Given the description of an element on the screen output the (x, y) to click on. 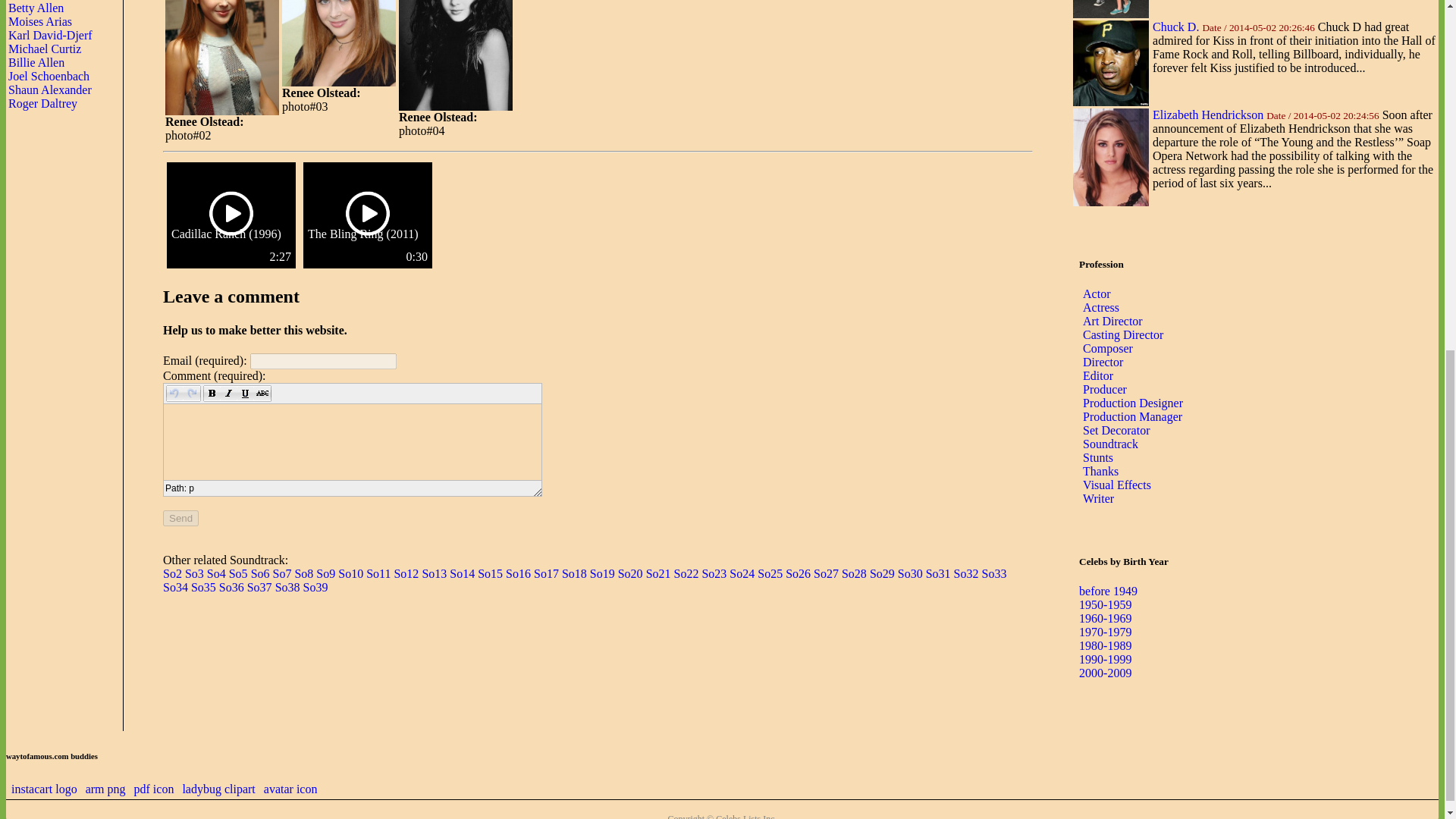
Renee Olstead (339, 43)
Renee Olstead (222, 57)
Send (180, 518)
Beth Allen (34, 0)
